Given the description of an element on the screen output the (x, y) to click on. 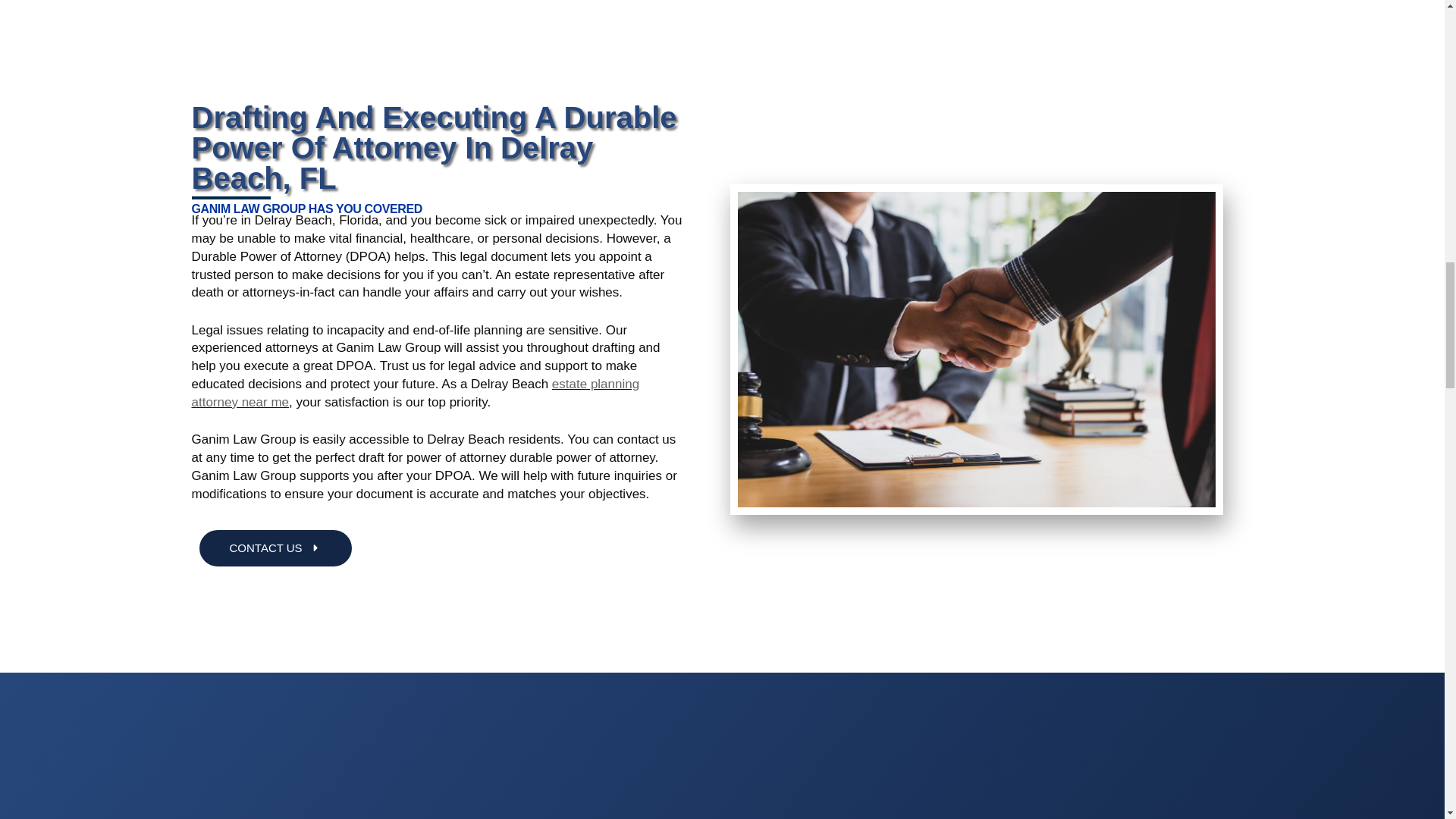
estate planning attorney near me (414, 392)
CONTACT US (274, 547)
